Given the description of an element on the screen output the (x, y) to click on. 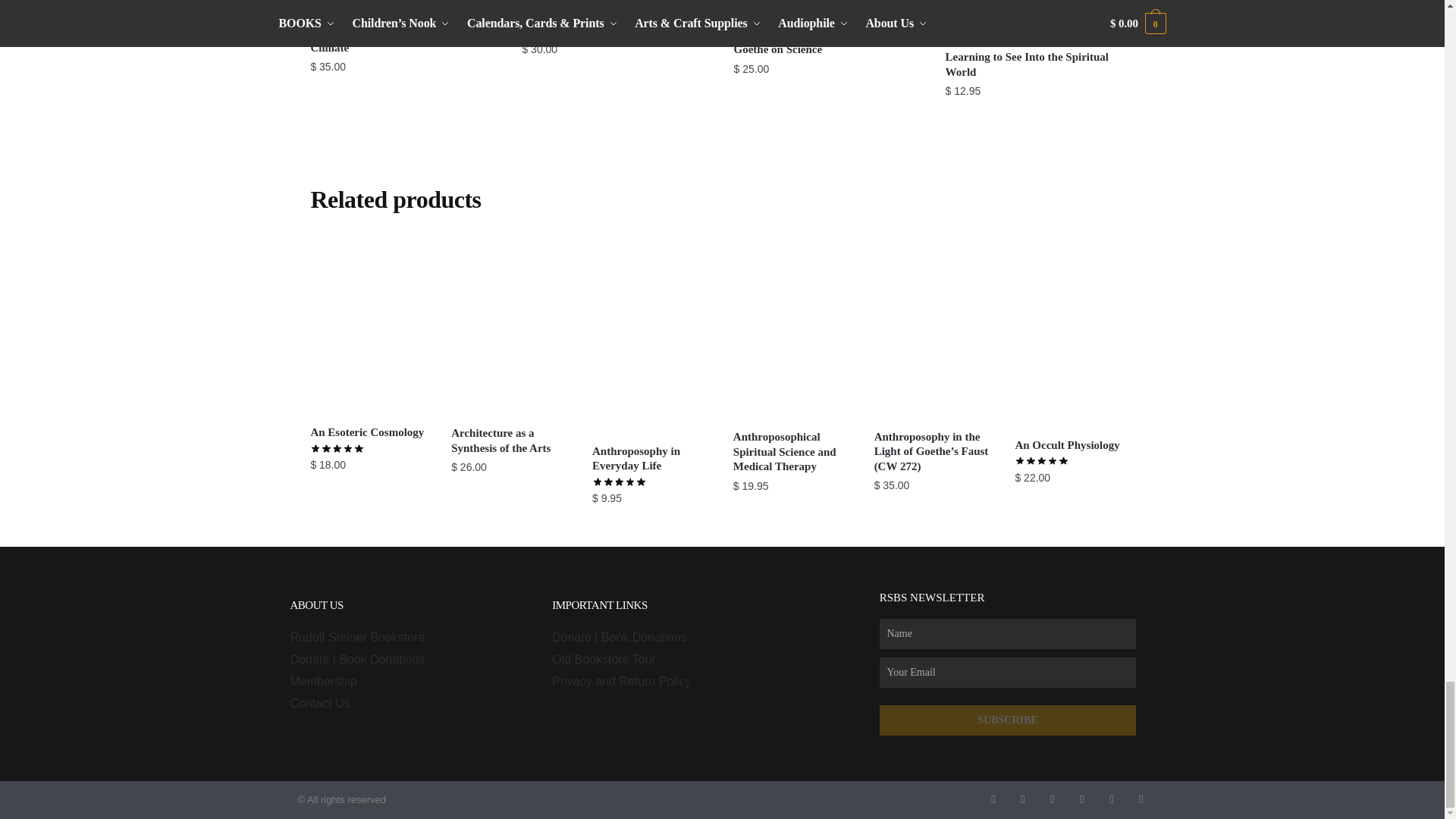
Learning to See Into the Spiritual World (1039, 19)
Climate (404, 14)
Goethe on Science (828, 15)
